Given the description of an element on the screen output the (x, y) to click on. 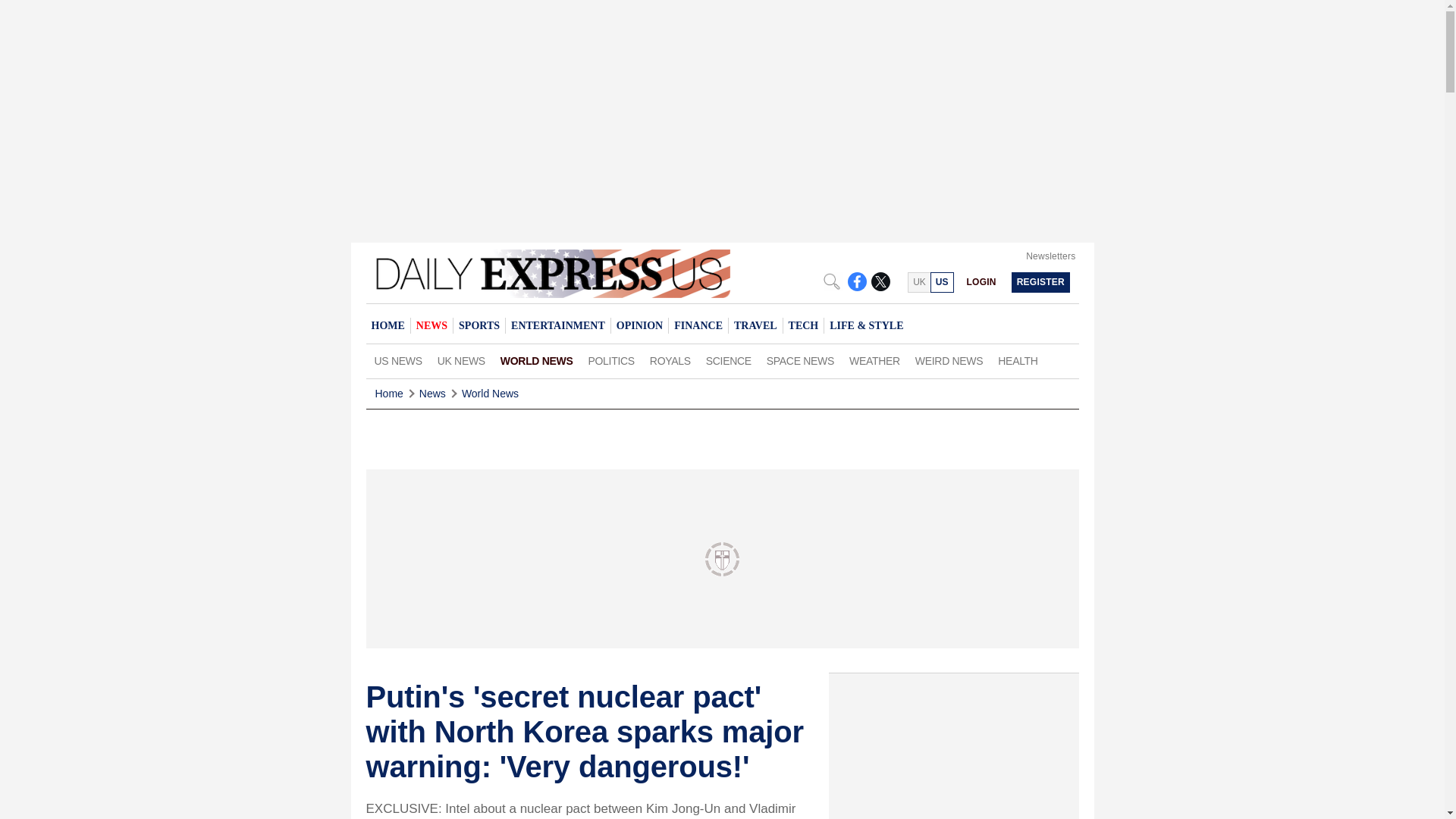
SCIENCE (728, 361)
TECH (803, 325)
Newsletters (1050, 256)
Follow us on Twitter (879, 281)
UK NEWS (461, 361)
the-express.com (941, 281)
WEIRD NEWS (948, 361)
OPINION (639, 325)
World News (489, 393)
Express.co.uk (918, 281)
ENTERTAINMENT (557, 325)
POLITICS (611, 361)
SPACE NEWS (799, 361)
US NEWS (397, 361)
WEATHER (874, 361)
